Given the description of an element on the screen output the (x, y) to click on. 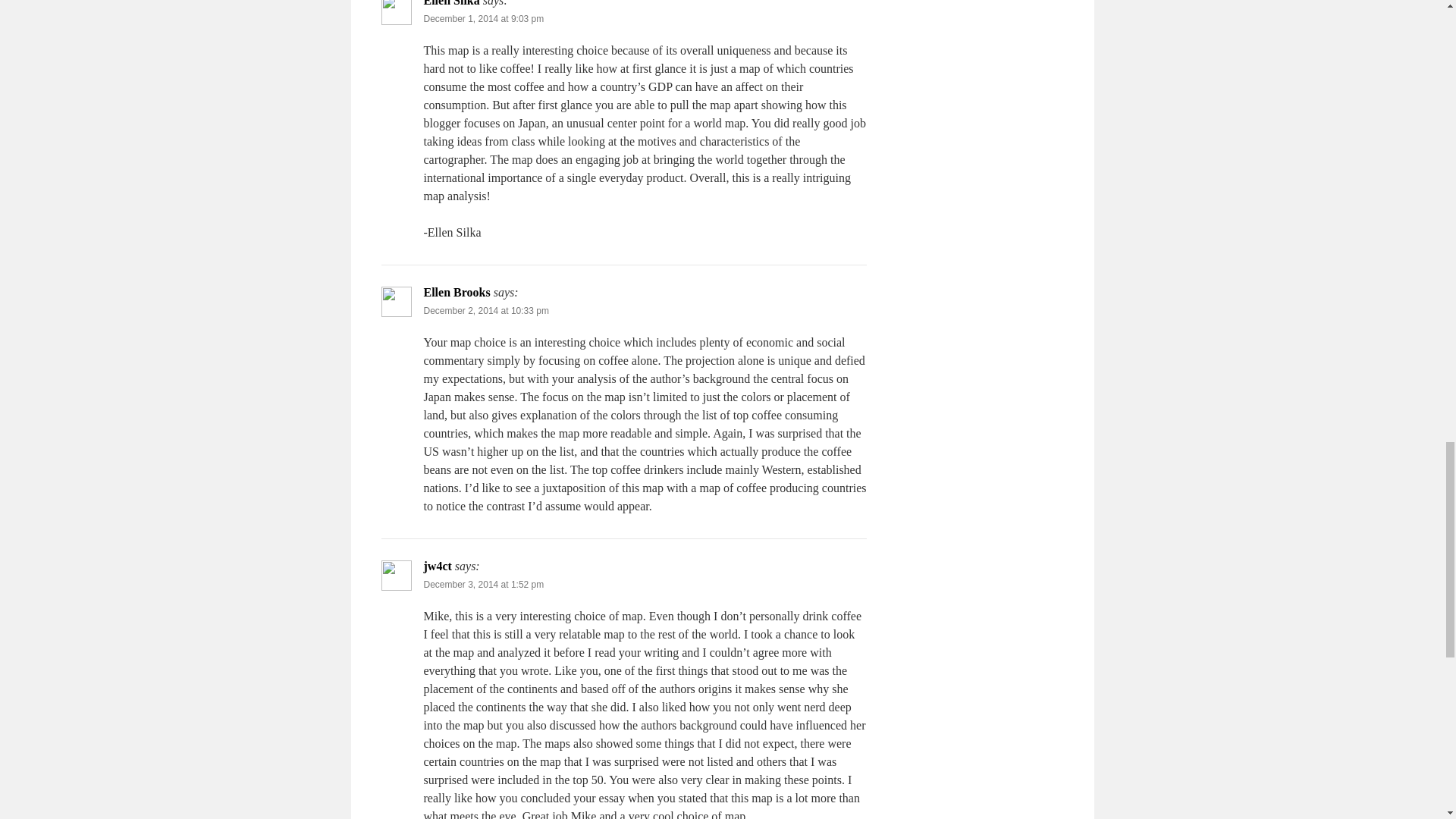
December 1, 2014 at 9:03 pm (483, 18)
December 2, 2014 at 10:33 pm (485, 310)
December 3, 2014 at 1:52 pm (483, 584)
